Given the description of an element on the screen output the (x, y) to click on. 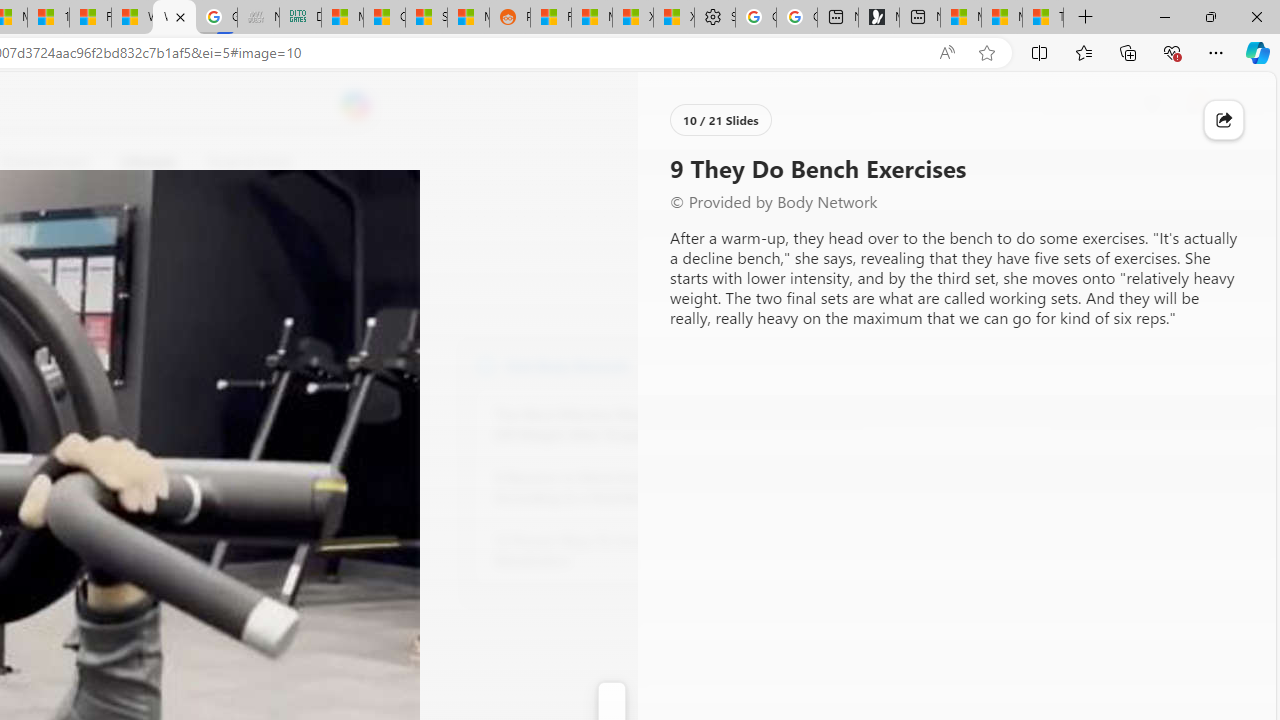
DITOGAMES AG Imprint (300, 17)
Visit Body Network website (733, 364)
12 Proven Ways To Increase Your Metabolism (603, 550)
Entertainment (45, 162)
8 Reasons to Drink Kombucha, According to a Nutritionist (603, 488)
These 3 Stocks Pay You More Than 5% to Own Them (1042, 17)
Class: at-item immersive (1224, 120)
Notifications (1192, 105)
MSNBC - MSN (342, 17)
Body Network (486, 364)
